Given the description of an element on the screen output the (x, y) to click on. 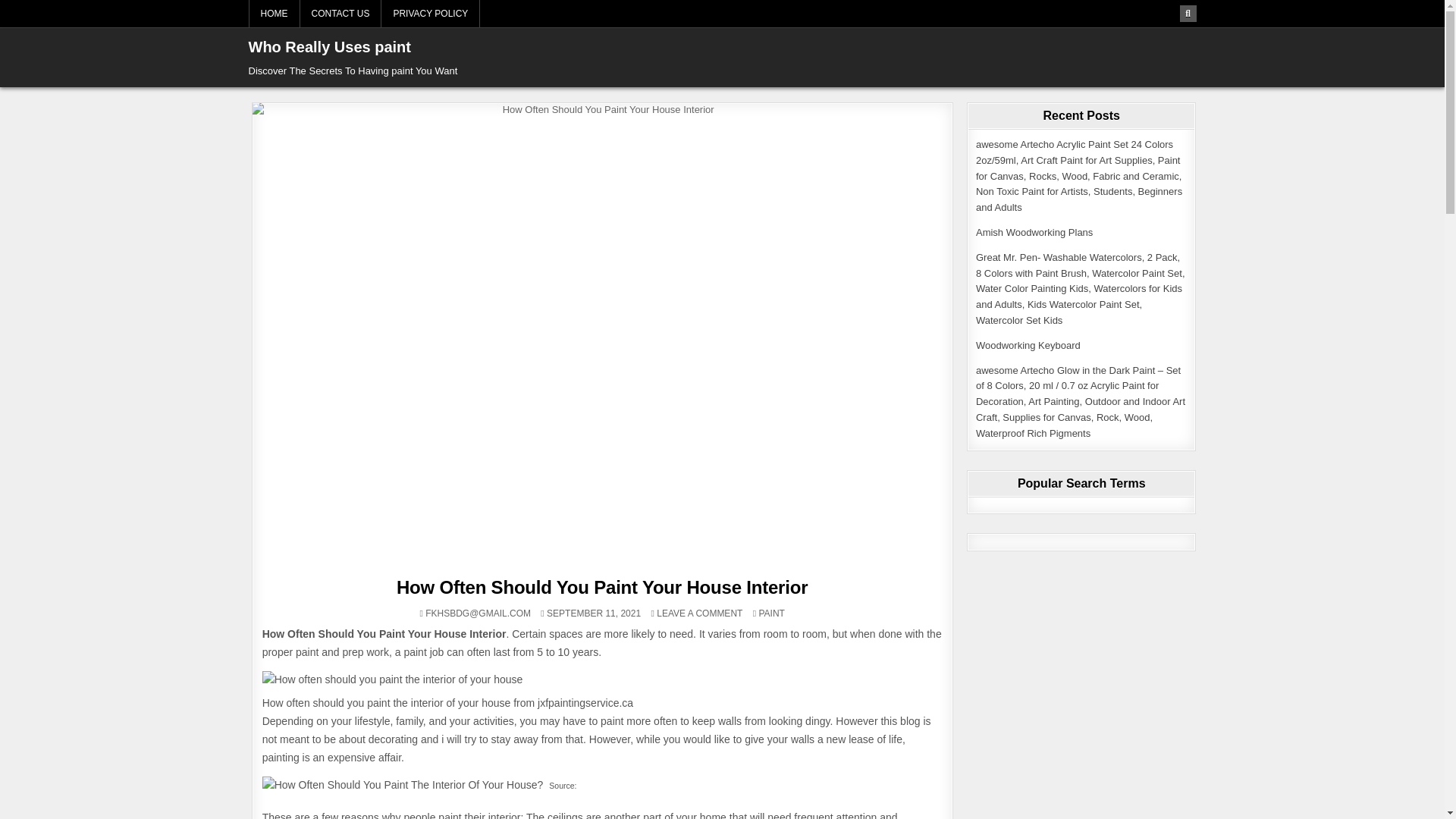
Who Really Uses paint (330, 46)
PRIVACY POLICY (430, 13)
HOME (273, 13)
CONTACT US (340, 13)
Woodworking Keyboard (1027, 345)
How Often Should You Paint Your House Interior 2 (392, 679)
PAINT (771, 613)
Amish Woodworking Plans (1034, 232)
